Given the description of an element on the screen output the (x, y) to click on. 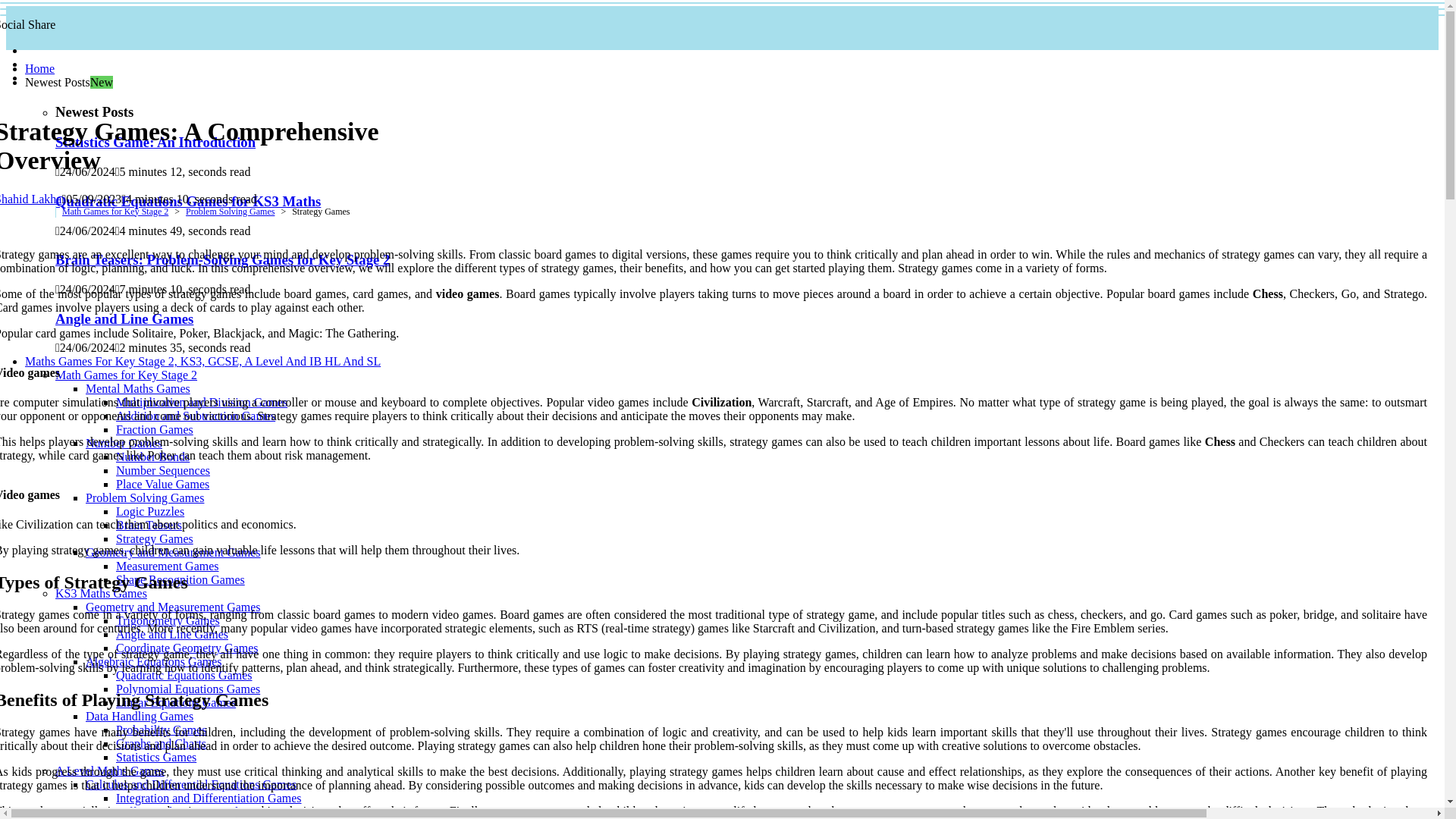
Brain Teasers: Problem-Solving Games for Key Stage 2 (222, 259)
Number Bonds (152, 456)
Addition and Subtraction Games (195, 415)
Problem Solving Games (144, 497)
Linear Equations Games (175, 702)
Posts by Shahid Lakha (30, 198)
Statistics Game: An Introduction (155, 141)
Data Handling Games (139, 716)
Quadratic Equations Games (183, 675)
Mental Maths Games (137, 388)
Newest PostsNew (68, 82)
KS3 Maths Games (101, 593)
Logic Puzzles (150, 511)
Multiplication and Division Games (201, 401)
